Given the description of an element on the screen output the (x, y) to click on. 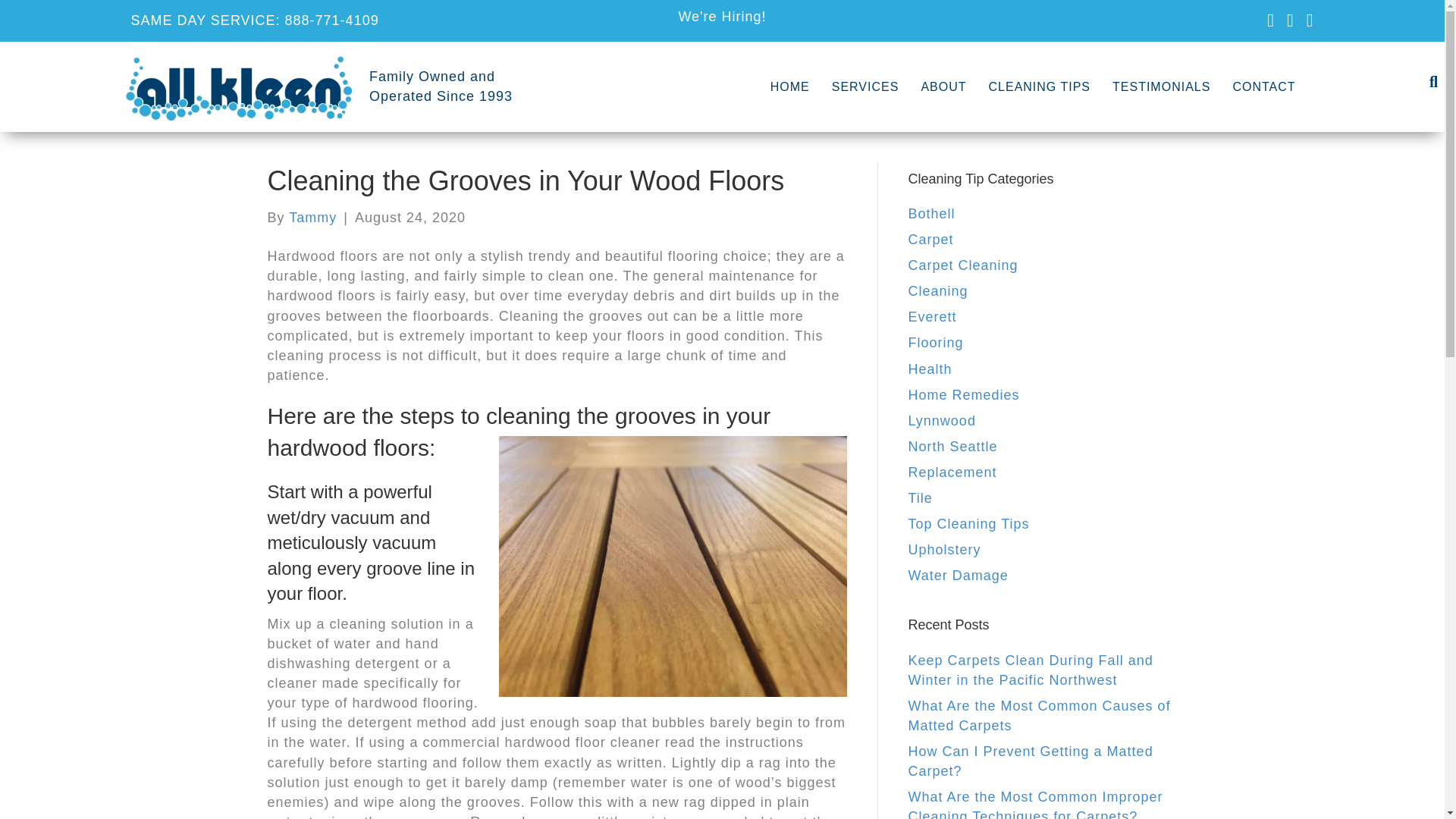
ABOUT (943, 86)
We're Hiring! (721, 16)
Bothell (440, 86)
TESTIMONIALS (931, 213)
HOME (1161, 86)
CLEANING TIPS (790, 86)
CONTACT (1040, 86)
Tammy (1263, 86)
SERVICES (312, 217)
